Given the description of an element on the screen output the (x, y) to click on. 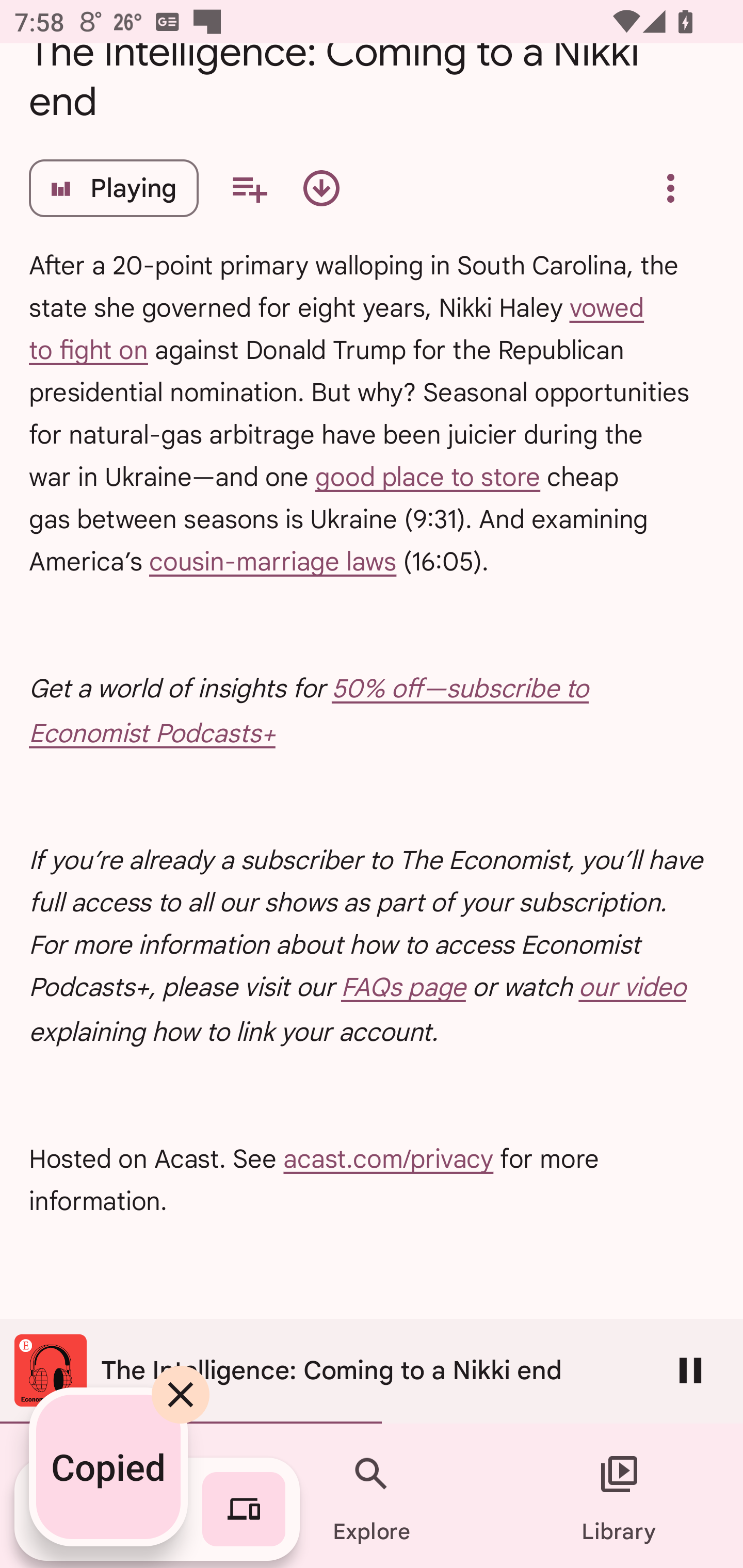
Add to your queue (249, 188)
Download episode (321, 188)
Overflow menu (670, 188)
Pause (690, 1370)
Explore (371, 1495)
Library (619, 1495)
